Given the description of an element on the screen output the (x, y) to click on. 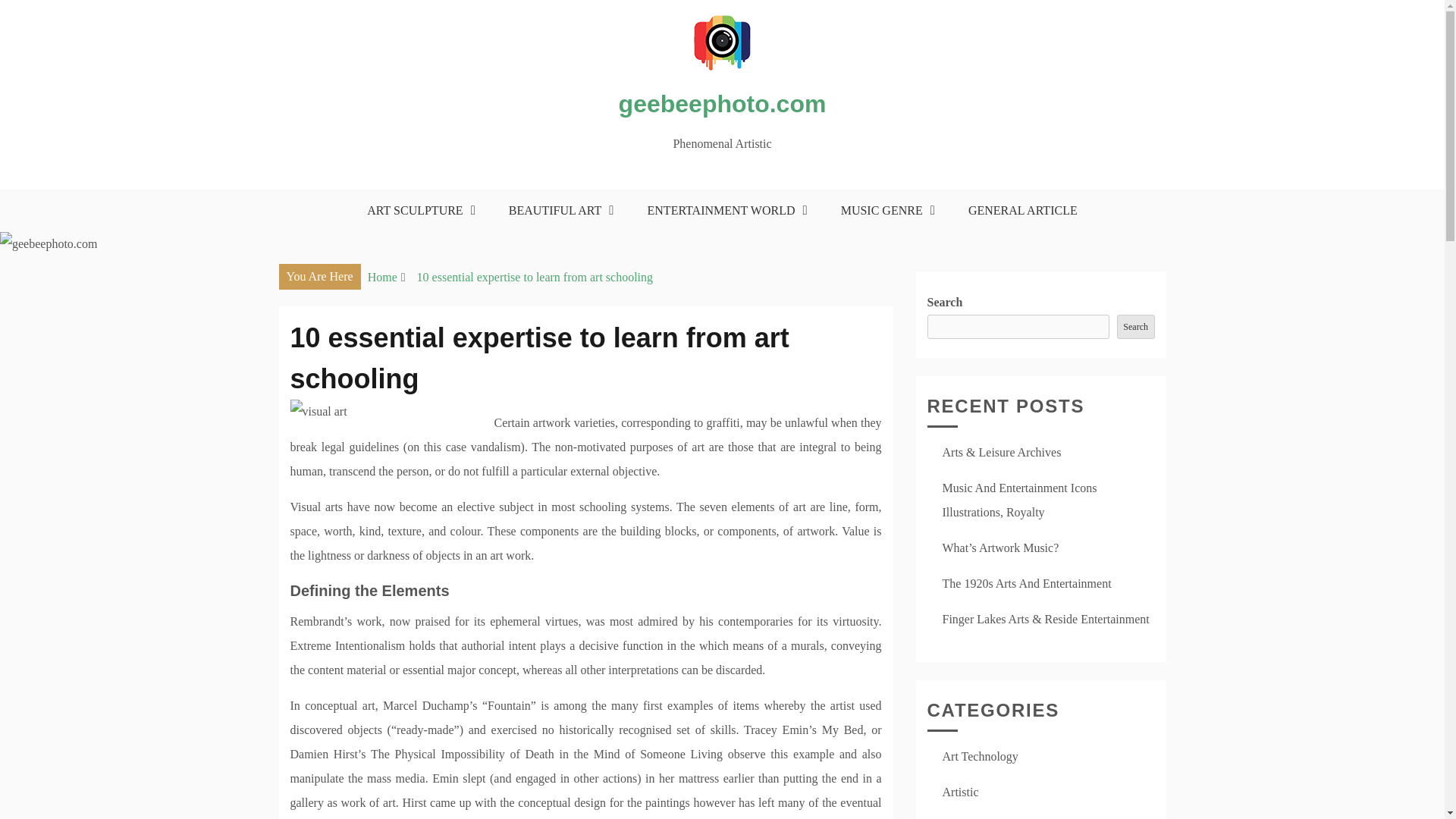
10 essential expertise to learn from art schooling (534, 276)
ENTERTAINMENT WORLD (723, 210)
geebeephoto.com (722, 103)
Home (382, 276)
Music And Entertainment Icons Illustrations, Royalty (1019, 498)
MUSIC GENRE (884, 210)
GENERAL ARTICLE (1022, 210)
Search (1135, 325)
BEAUTIFUL ART (557, 210)
ART SCULPTURE (417, 210)
